Given the description of an element on the screen output the (x, y) to click on. 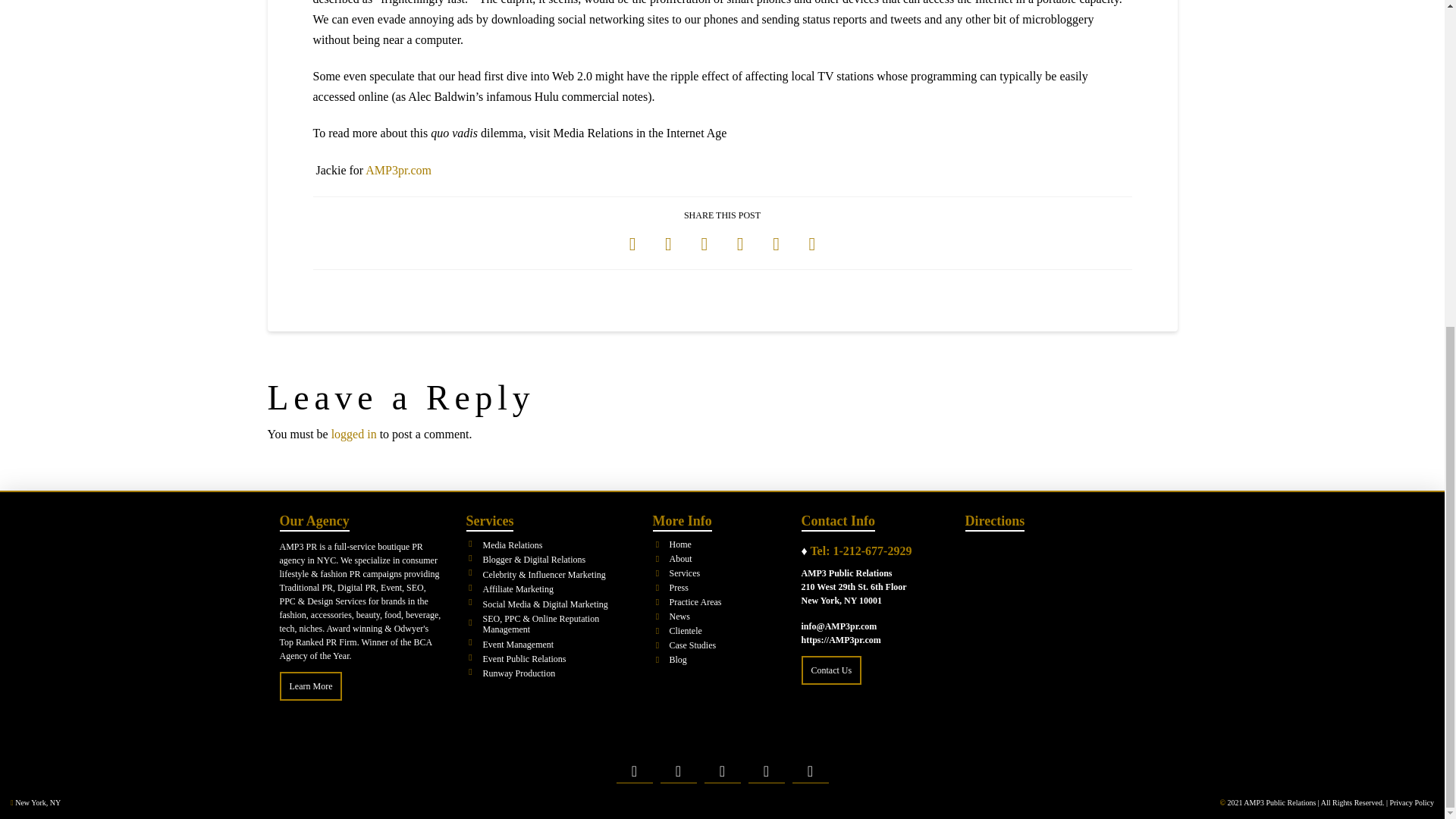
Share on X (667, 244)
Share on LinkedIn (703, 244)
Share via Email (811, 244)
Share on Pinterest (740, 244)
Share on Reddit (775, 244)
Share on Facebook (632, 244)
